Given the description of an element on the screen output the (x, y) to click on. 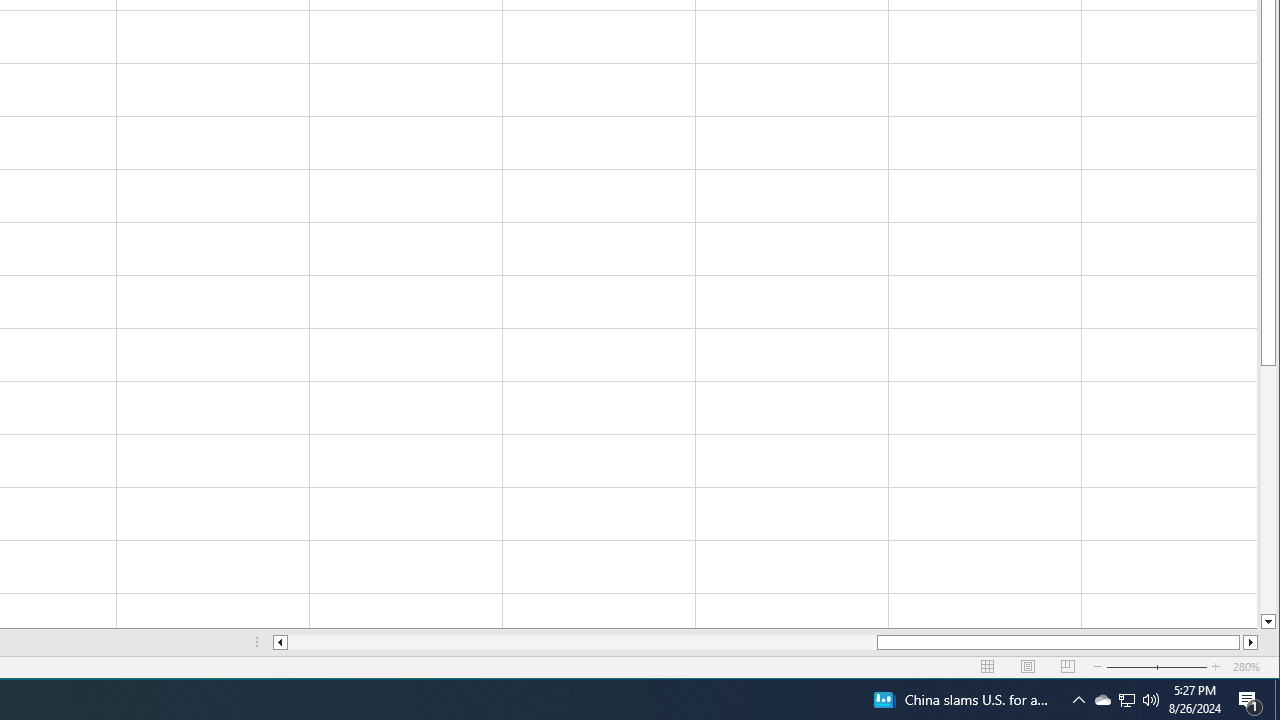
Line down (1268, 622)
Q2790: 100% (1102, 699)
Class: NetUIScrollBar (1151, 699)
User Promoted Notification Area (765, 642)
Zoom (1126, 699)
